Given the description of an element on the screen output the (x, y) to click on. 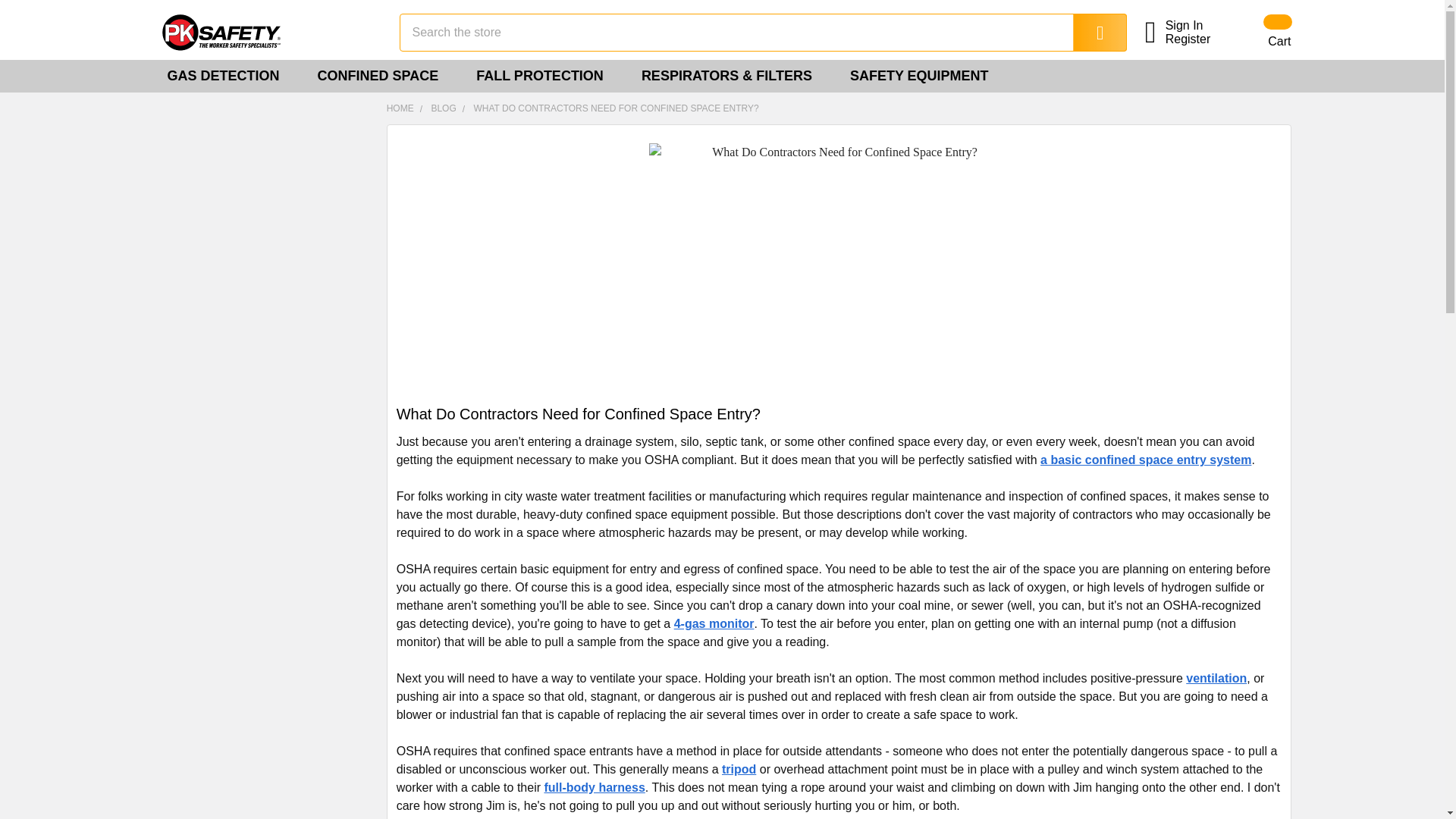
Sign In (1197, 25)
PK Safety Supply (266, 32)
GAS DETECTION (227, 75)
Cart (1259, 31)
Register (1197, 38)
Search (1088, 32)
Search (1088, 32)
What Do Contractors Need for Confined Space Entry? (838, 269)
Cart (1259, 31)
CONFINED SPACE (383, 75)
